Given the description of an element on the screen output the (x, y) to click on. 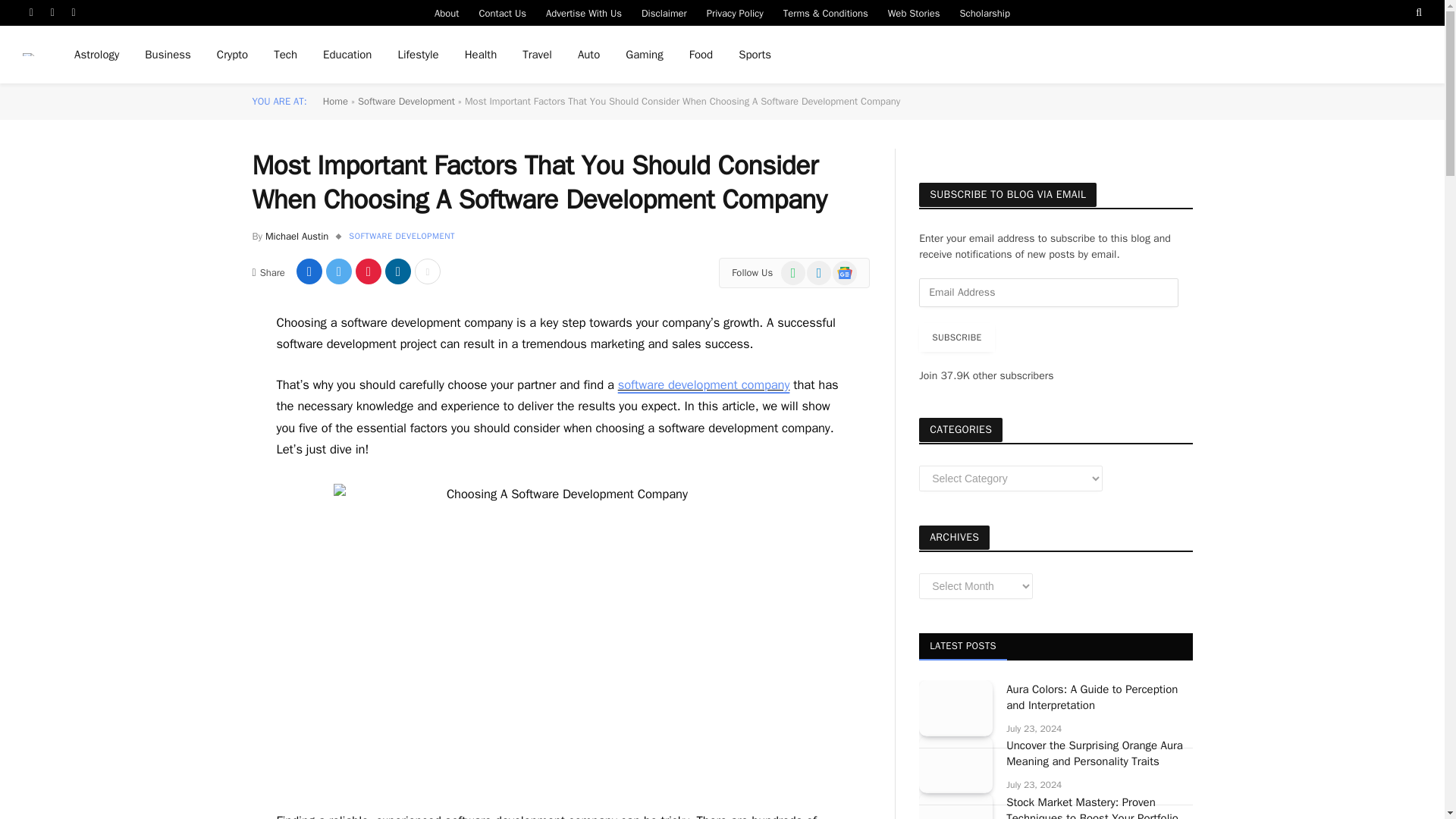
Education (347, 54)
Gaming (643, 54)
Contact Us (501, 12)
Astrology (96, 54)
Share on Pinterest (368, 271)
Share on LinkedIn (397, 271)
Business (167, 54)
Crypto (231, 54)
Advertise With Us (583, 12)
Posts by Michael Austin (296, 236)
Travel (536, 54)
Web Stories (913, 12)
Disclaimer (664, 12)
Lifestyle (417, 54)
Privacy Policy (735, 12)
